Given the description of an element on the screen output the (x, y) to click on. 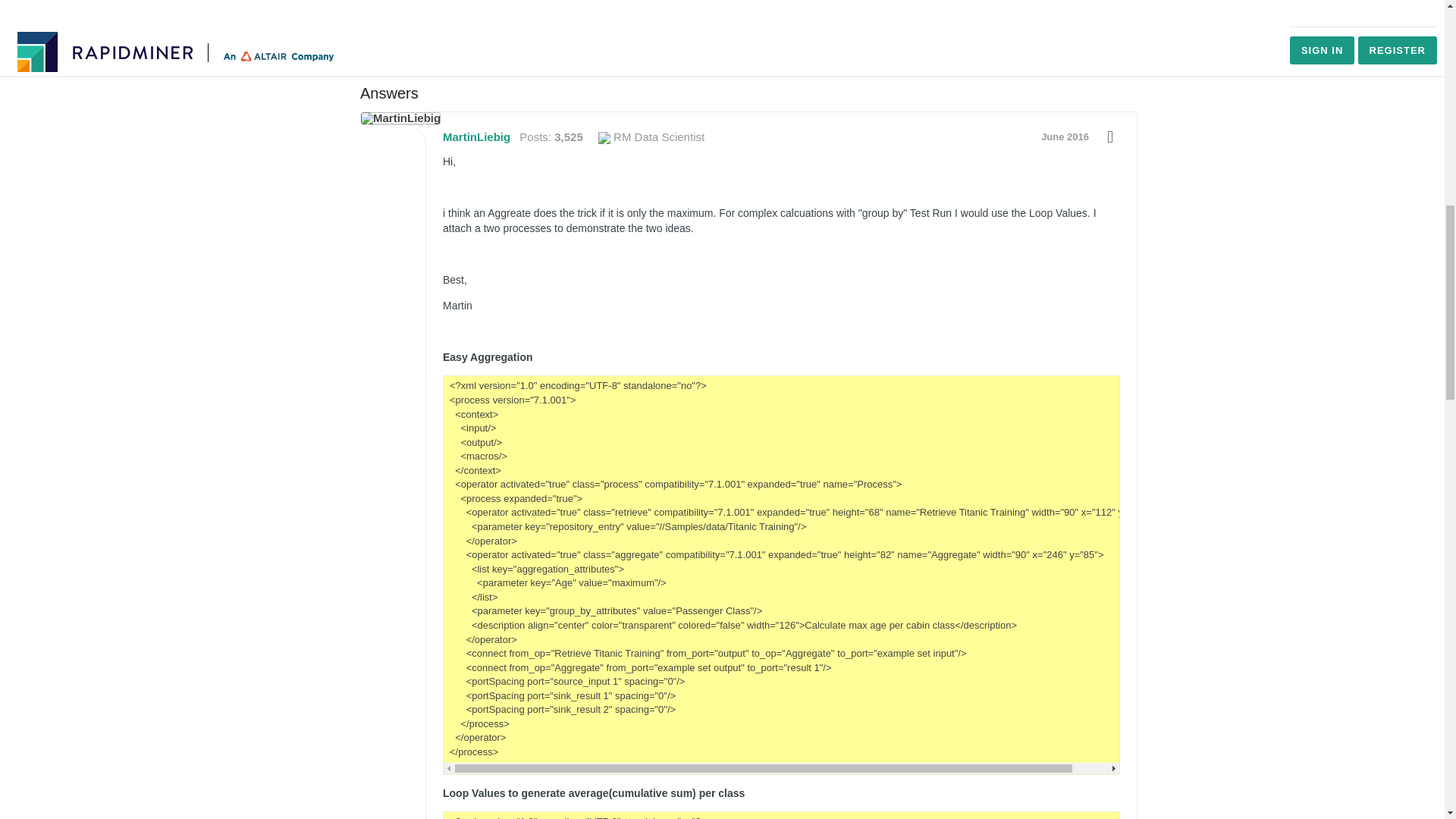
RM Data Scientist (651, 136)
MartinLiebig (401, 118)
June 3, 2016 3:57AM (1065, 136)
